Given the description of an element on the screen output the (x, y) to click on. 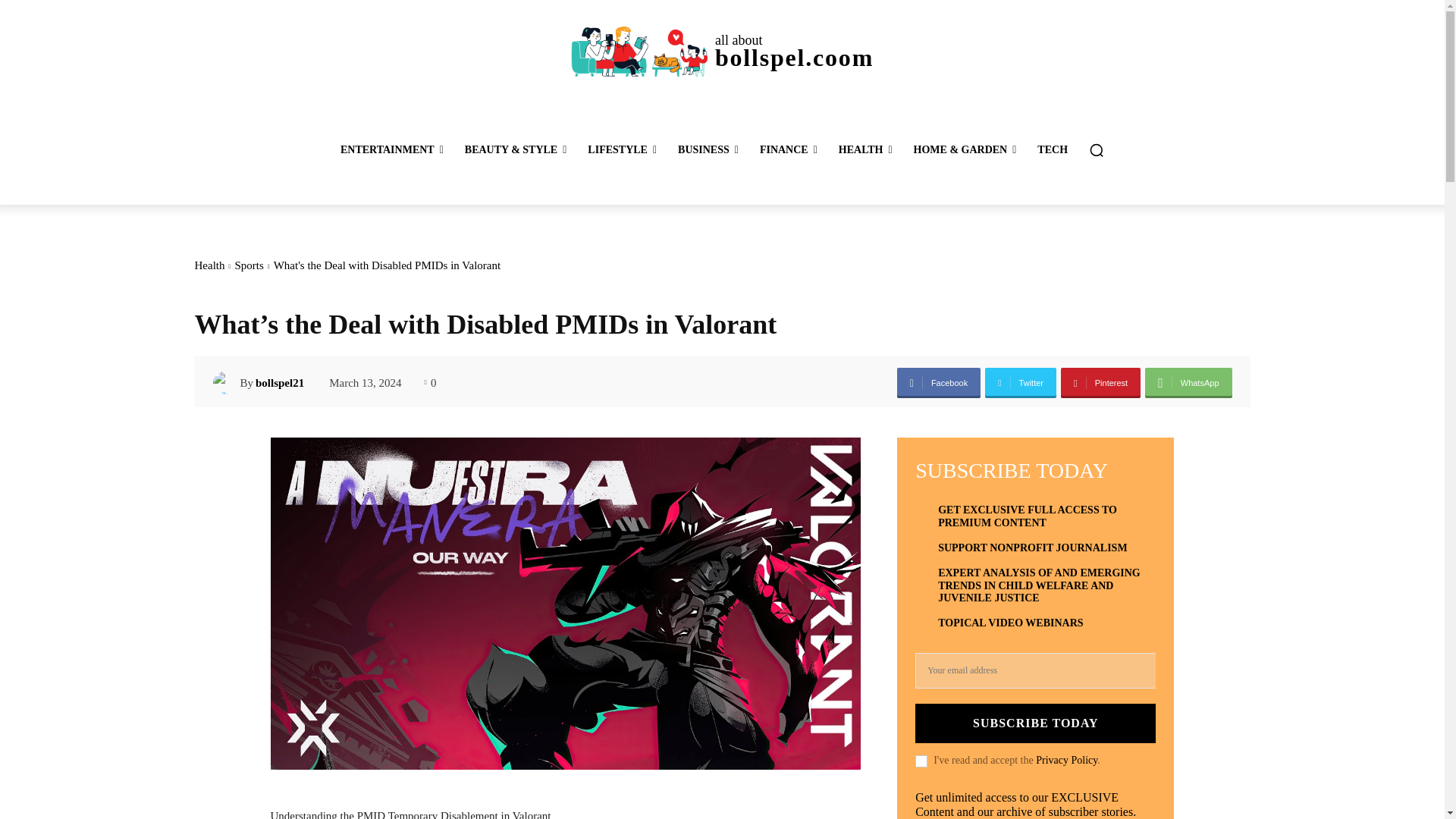
Facebook (937, 382)
View all posts in Health (208, 265)
bollspel21 (226, 382)
Twitter (1021, 382)
View all posts in Sports (248, 265)
